Given the description of an element on the screen output the (x, y) to click on. 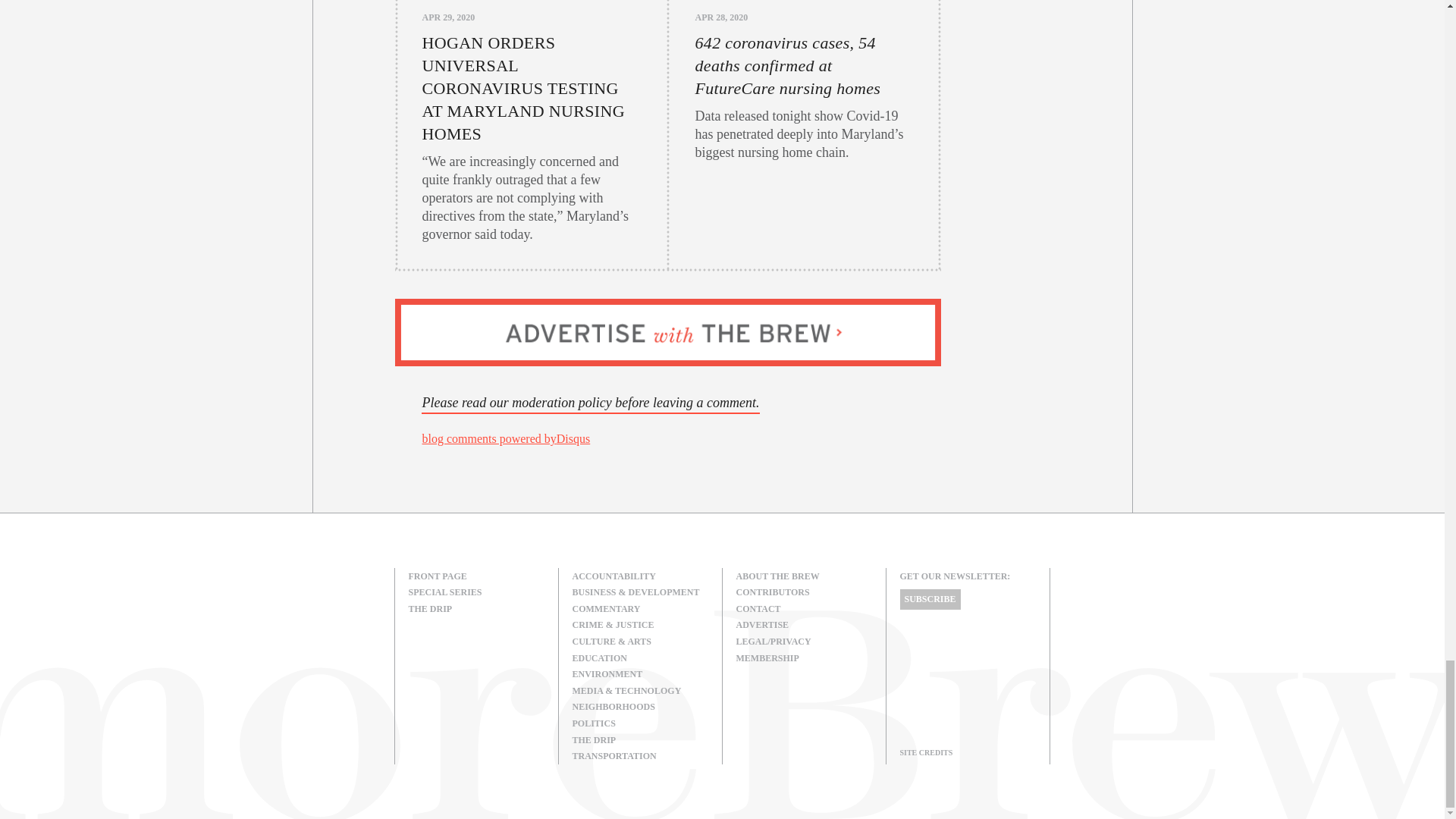
FRONT PAGE (475, 576)
blog comments powered byDisqus (505, 438)
THE DRIP (475, 609)
ACCOUNTABILITY (639, 576)
Please read our moderation policy before leaving a comment. (590, 402)
SPECIAL SERIES (475, 592)
